Given the description of an element on the screen output the (x, y) to click on. 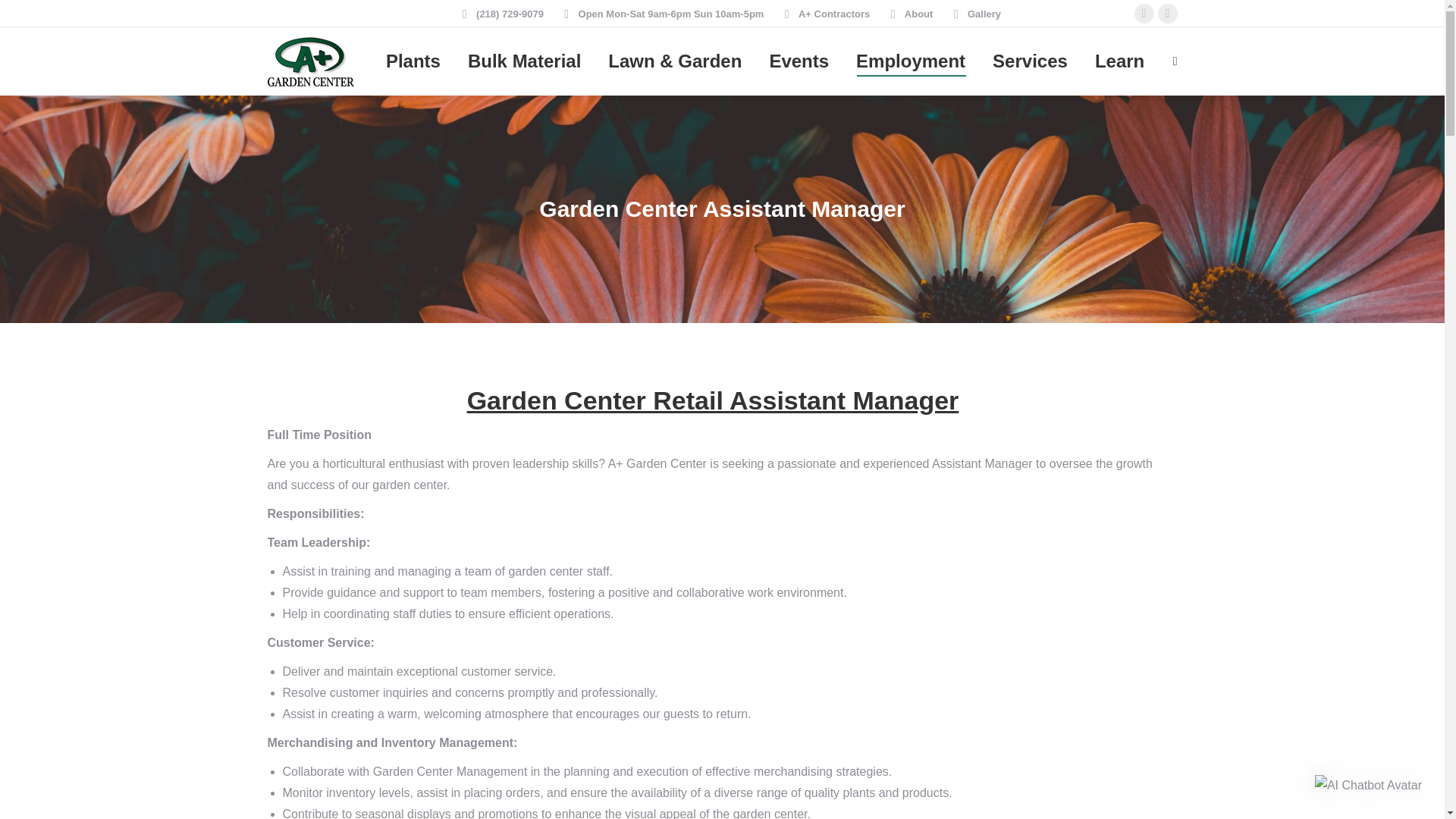
Instagram page opens in new window (1166, 13)
About (909, 12)
Plants (413, 60)
Bulk Material (523, 60)
Facebook page opens in new window (1144, 13)
Facebook page opens in new window (1144, 13)
Instagram page opens in new window (1166, 13)
Gallery (974, 12)
